Given the description of an element on the screen output the (x, y) to click on. 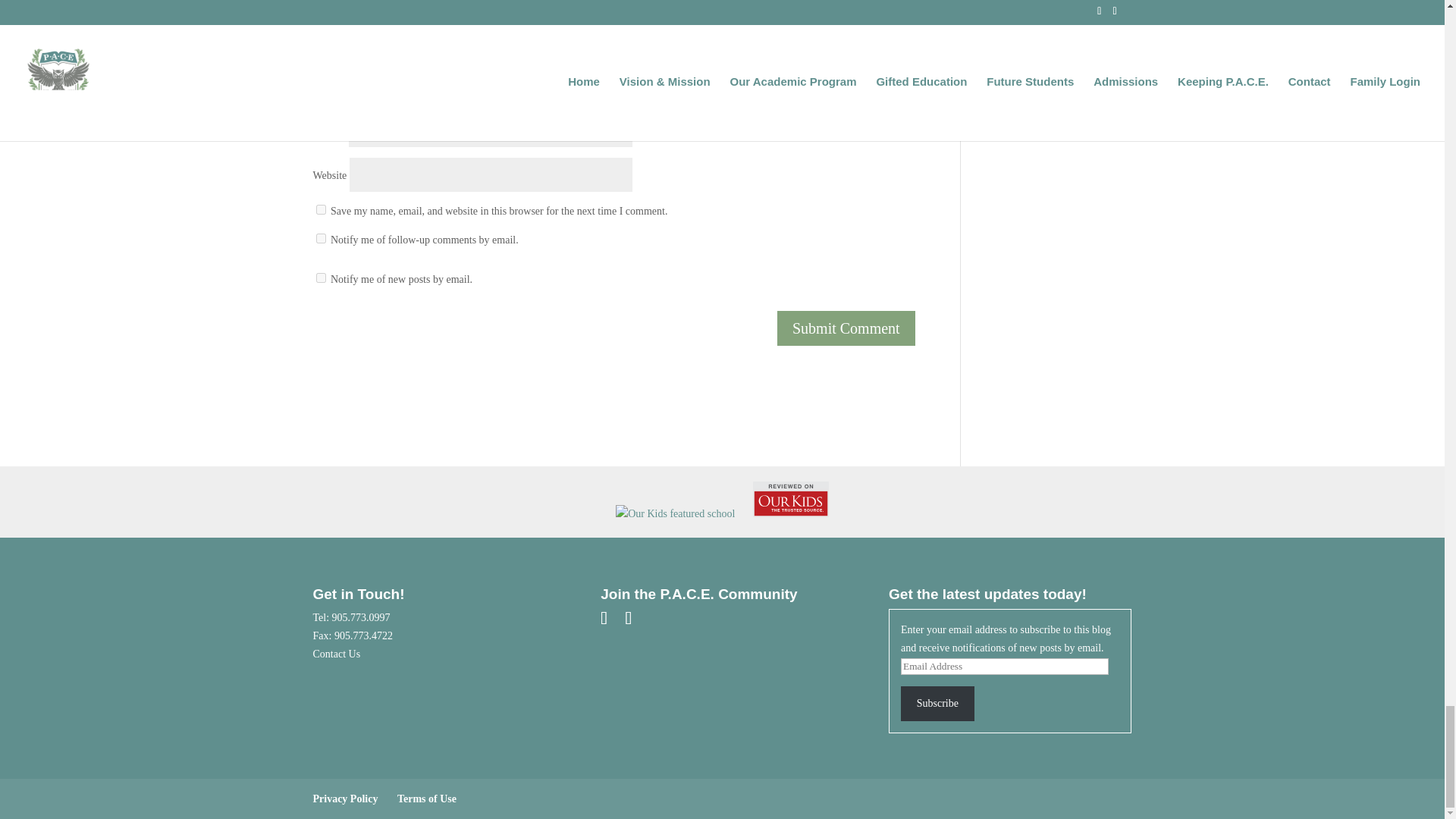
yes (319, 209)
subscribe (319, 277)
Submit Comment (845, 328)
subscribe (319, 238)
Submit Comment (845, 328)
